Given the description of an element on the screen output the (x, y) to click on. 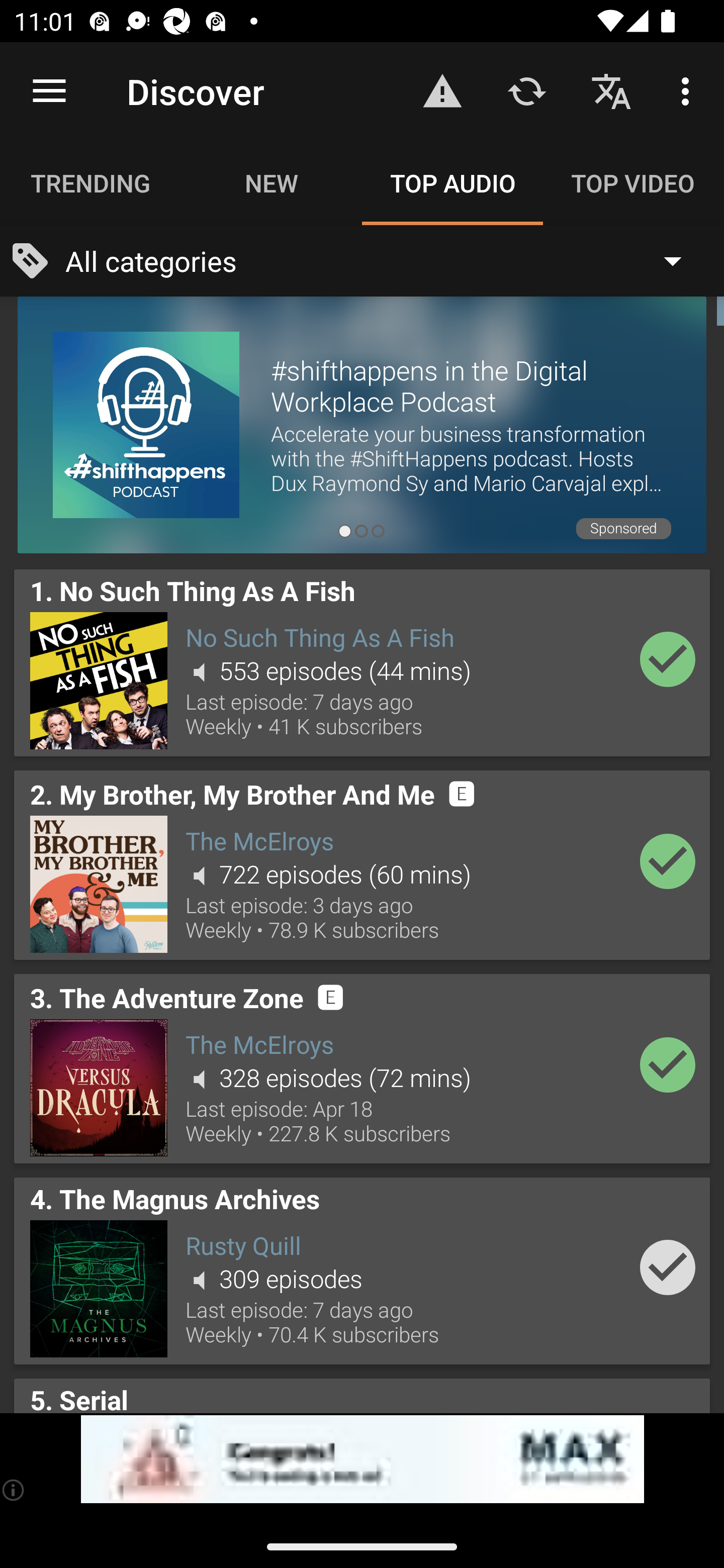
Open navigation sidebar (49, 91)
Report inappropriate content (442, 90)
Update top podcasts list (526, 90)
Podcast languages (611, 90)
More options (688, 90)
Trending TRENDING (90, 183)
New NEW (271, 183)
Top Video TOP VIDEO (633, 183)
All categories (383, 260)
Add (667, 658)
Add (667, 860)
Add (667, 1064)
Add (667, 1266)
app-monetization (362, 1459)
(i) (14, 1489)
